Given the description of an element on the screen output the (x, y) to click on. 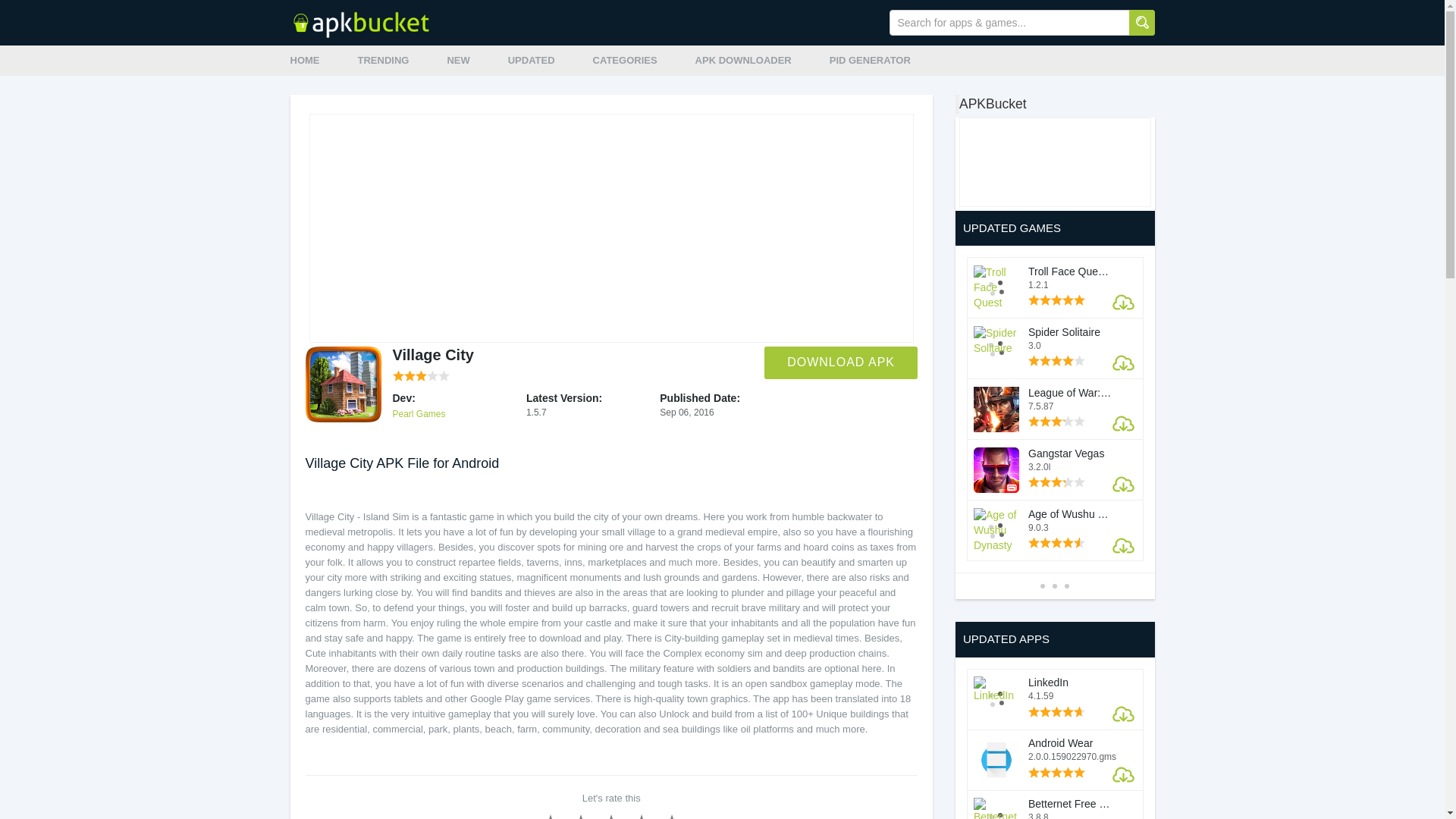
DOWNLOAD APK (840, 362)
Advertisement (611, 228)
NEW (457, 60)
Advertisement (1043, 160)
APK DOWNLOADER (743, 60)
PID GENERATOR (870, 60)
HOME (303, 60)
Pearl Games (419, 413)
UPDATED (531, 60)
CATEGORIES (625, 60)
TRENDING (383, 60)
